Given the description of an element on the screen output the (x, y) to click on. 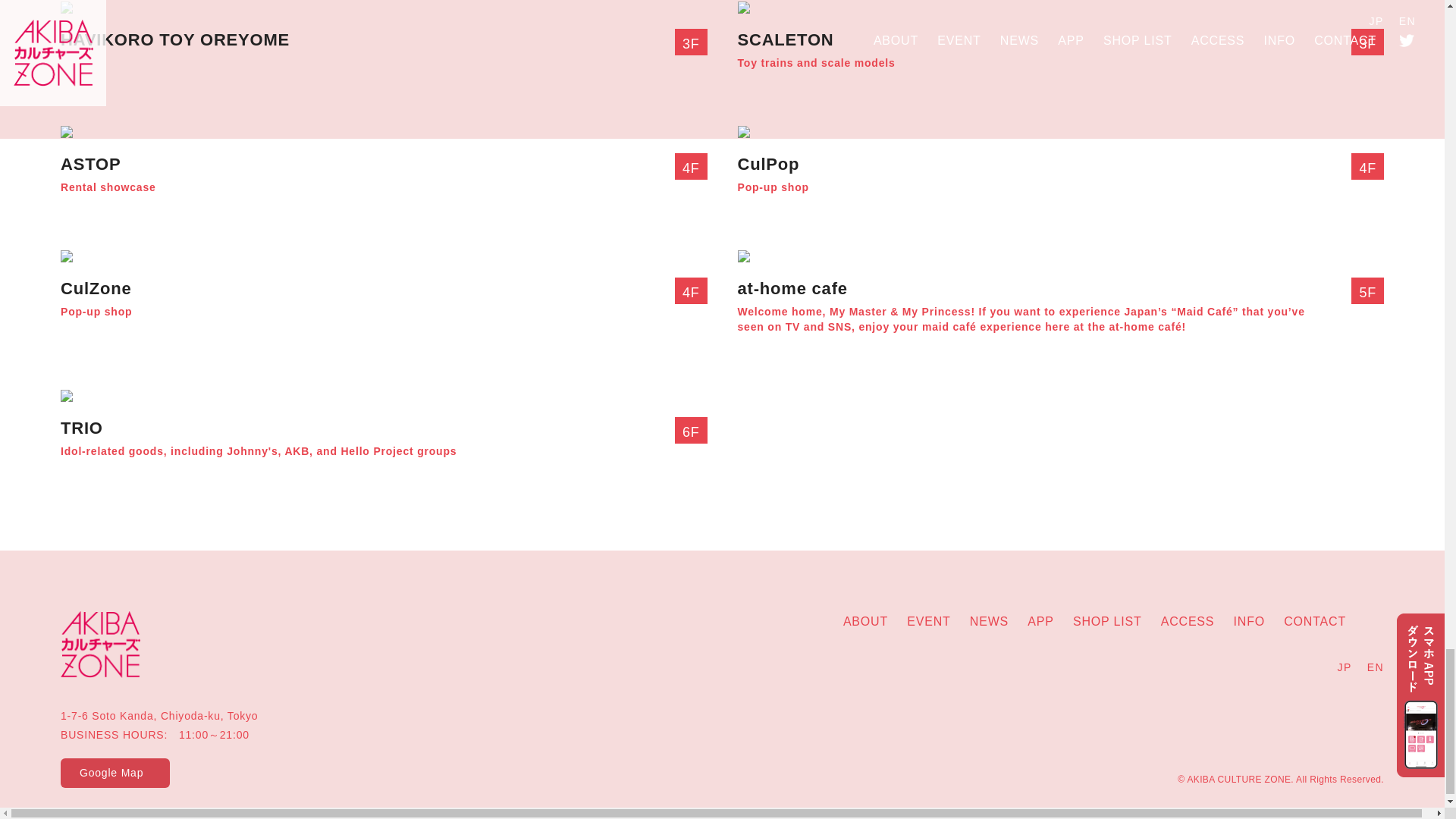
ABOUT (865, 621)
